Given the description of an element on the screen output the (x, y) to click on. 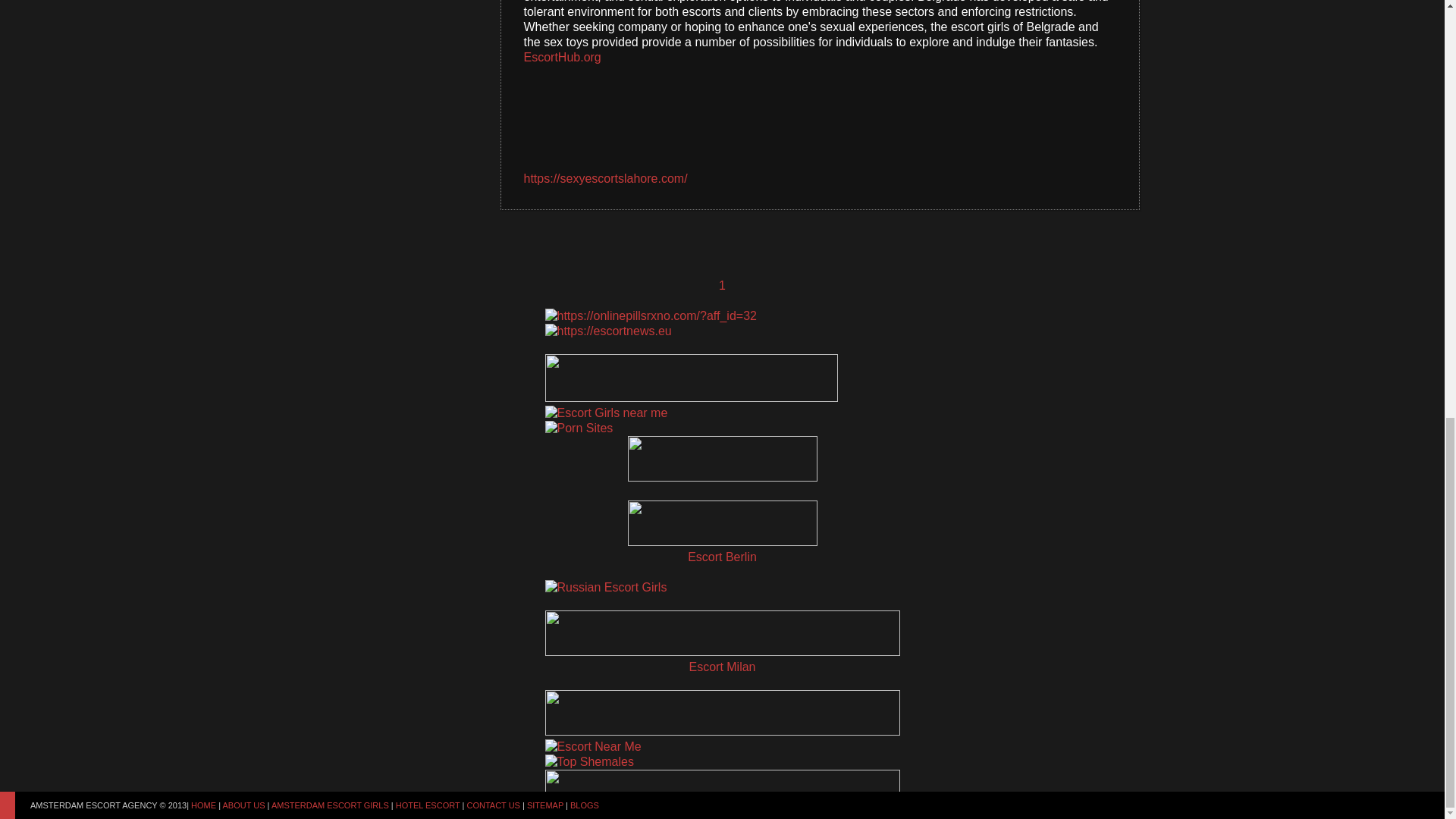
1 (721, 285)
Escort Berlin (721, 557)
EscortHub.org (560, 56)
Escort Milan (721, 667)
